Given the description of an element on the screen output the (x, y) to click on. 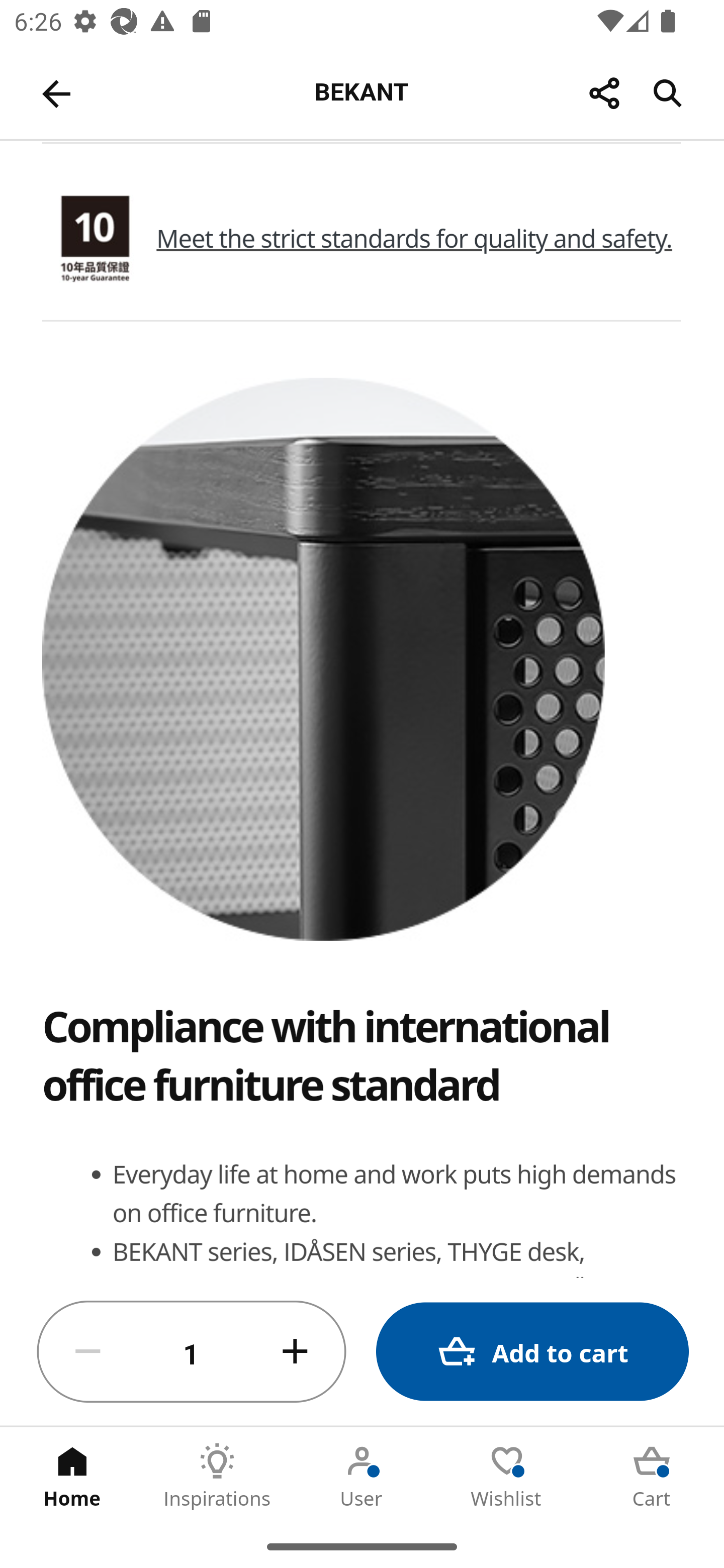
desk-table-storage-guarantee (94, 238)
Meet the strict standards for quality and safety. (414, 238)
Add to cart (531, 1352)
1 (191, 1352)
Home
Tab 1 of 5 (72, 1476)
Inspirations
Tab 2 of 5 (216, 1476)
User
Tab 3 of 5 (361, 1476)
Wishlist
Tab 4 of 5 (506, 1476)
Cart
Tab 5 of 5 (651, 1476)
